Given the description of an element on the screen output the (x, y) to click on. 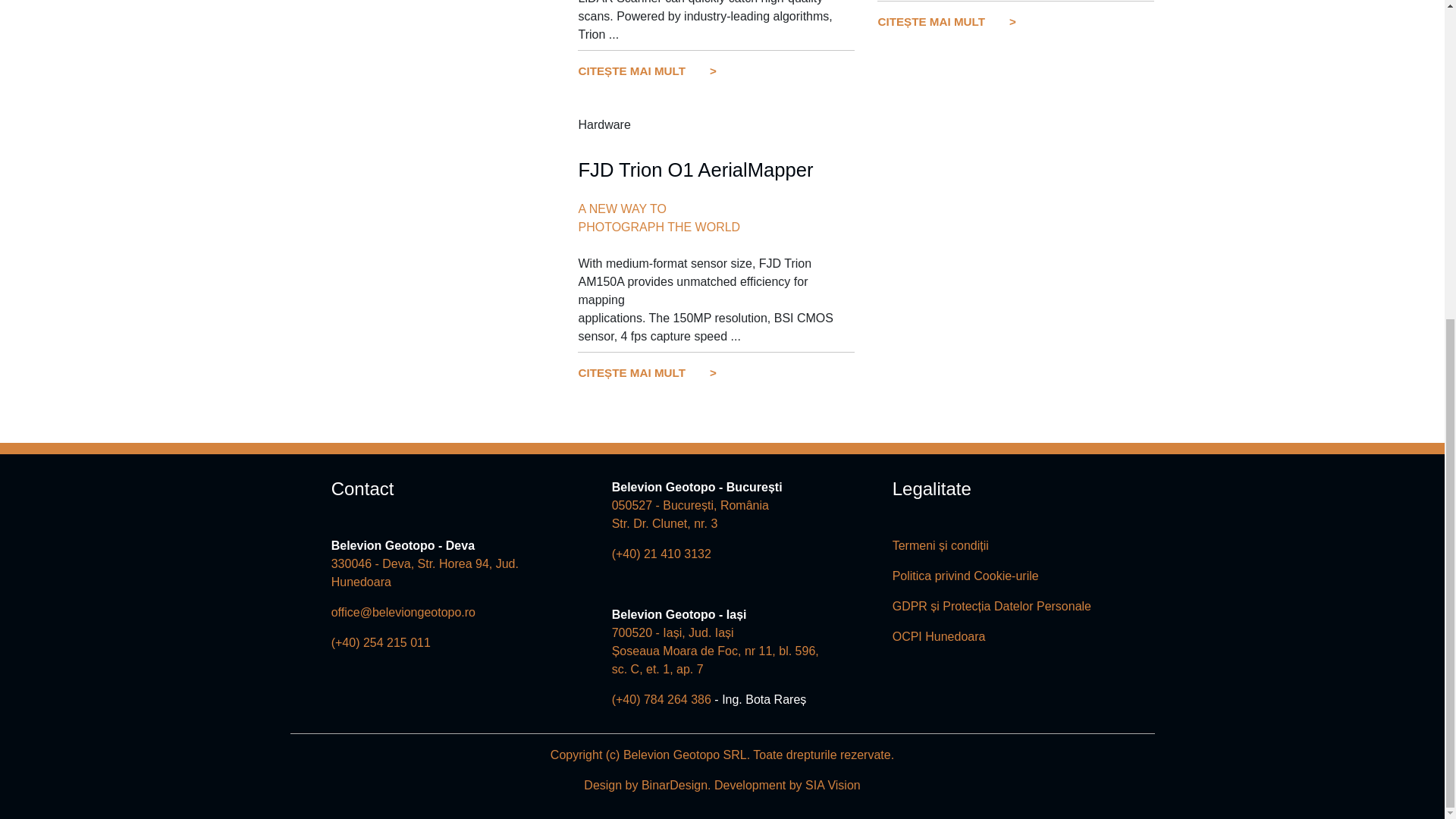
Iasi (714, 650)
Politica privind Cookie-urile (965, 575)
YouTube Belevion Geotopo (387, 679)
FJD Trion O1 AerialMapper (695, 169)
Facebook Belevion Geotopo (346, 679)
BUCURESTI (689, 513)
330046 - Deva, Str. Horea 94, Jud. Hunedoara (424, 572)
BinarDesign (674, 784)
Facebook Belevion Geotopo (346, 679)
YouTube Belevion Geotopo (387, 679)
